Given the description of an element on the screen output the (x, y) to click on. 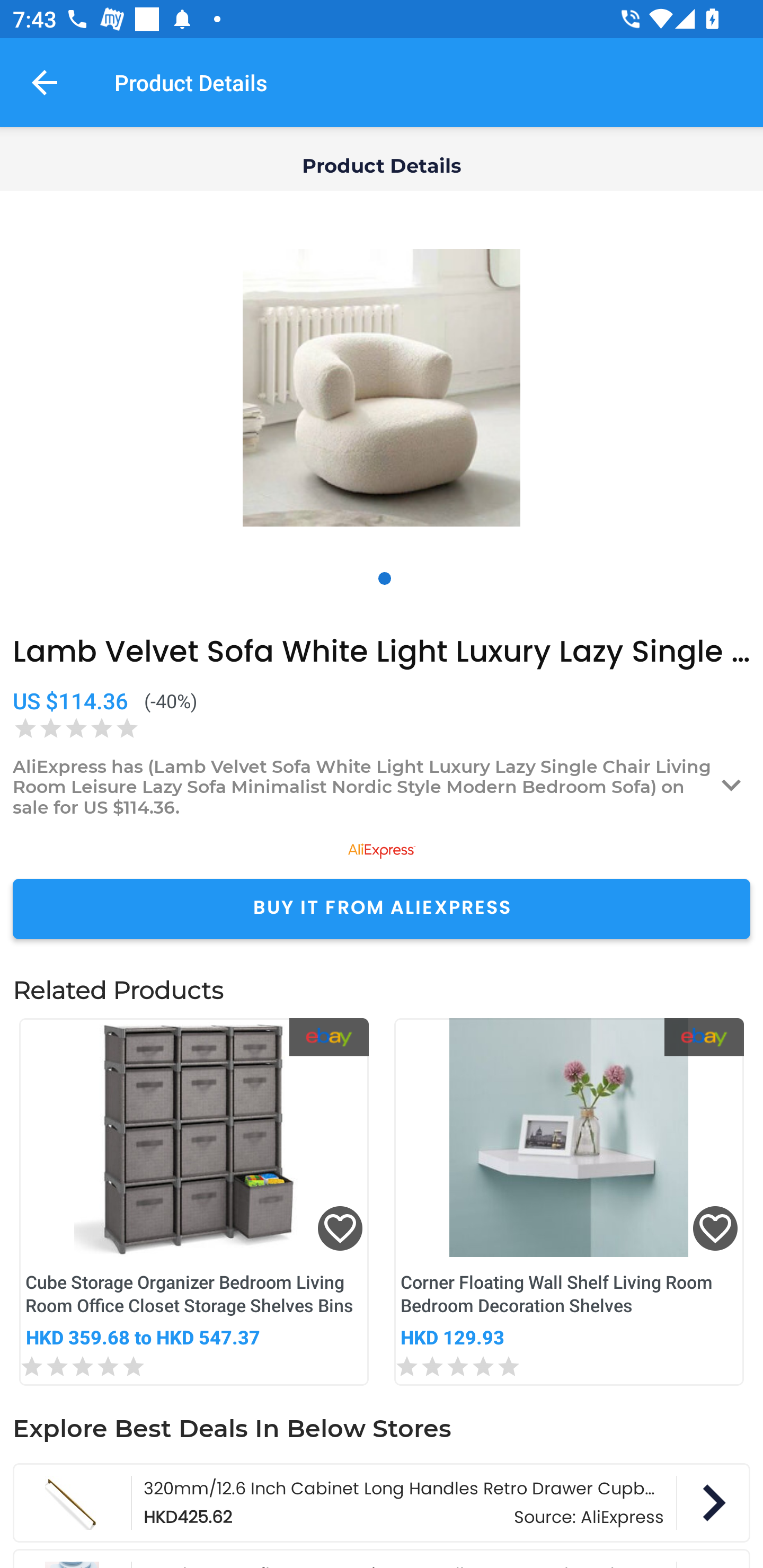
Navigate up (44, 82)
BUY IT FROM ALIEXPRESS (381, 908)
